Given the description of an element on the screen output the (x, y) to click on. 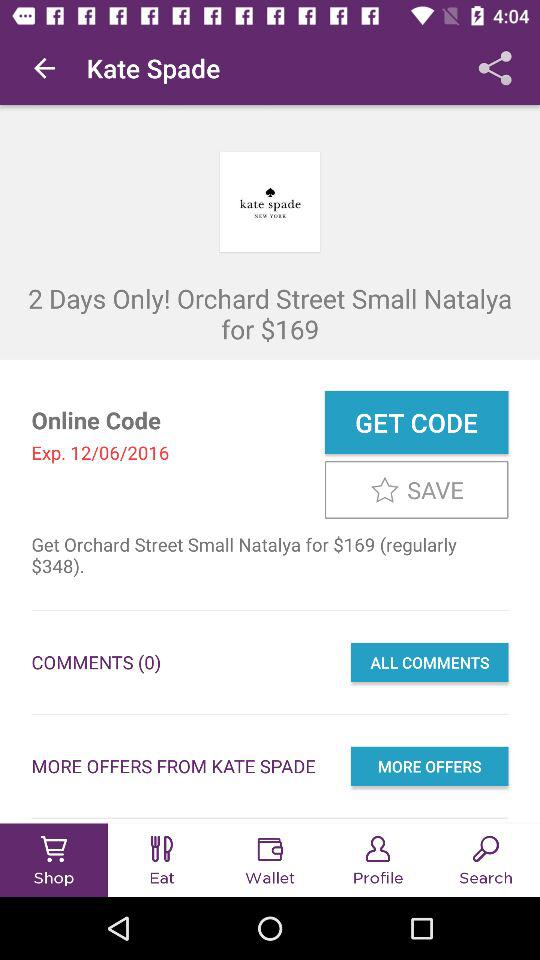
turn off the all comments item (429, 662)
